Given the description of an element on the screen output the (x, y) to click on. 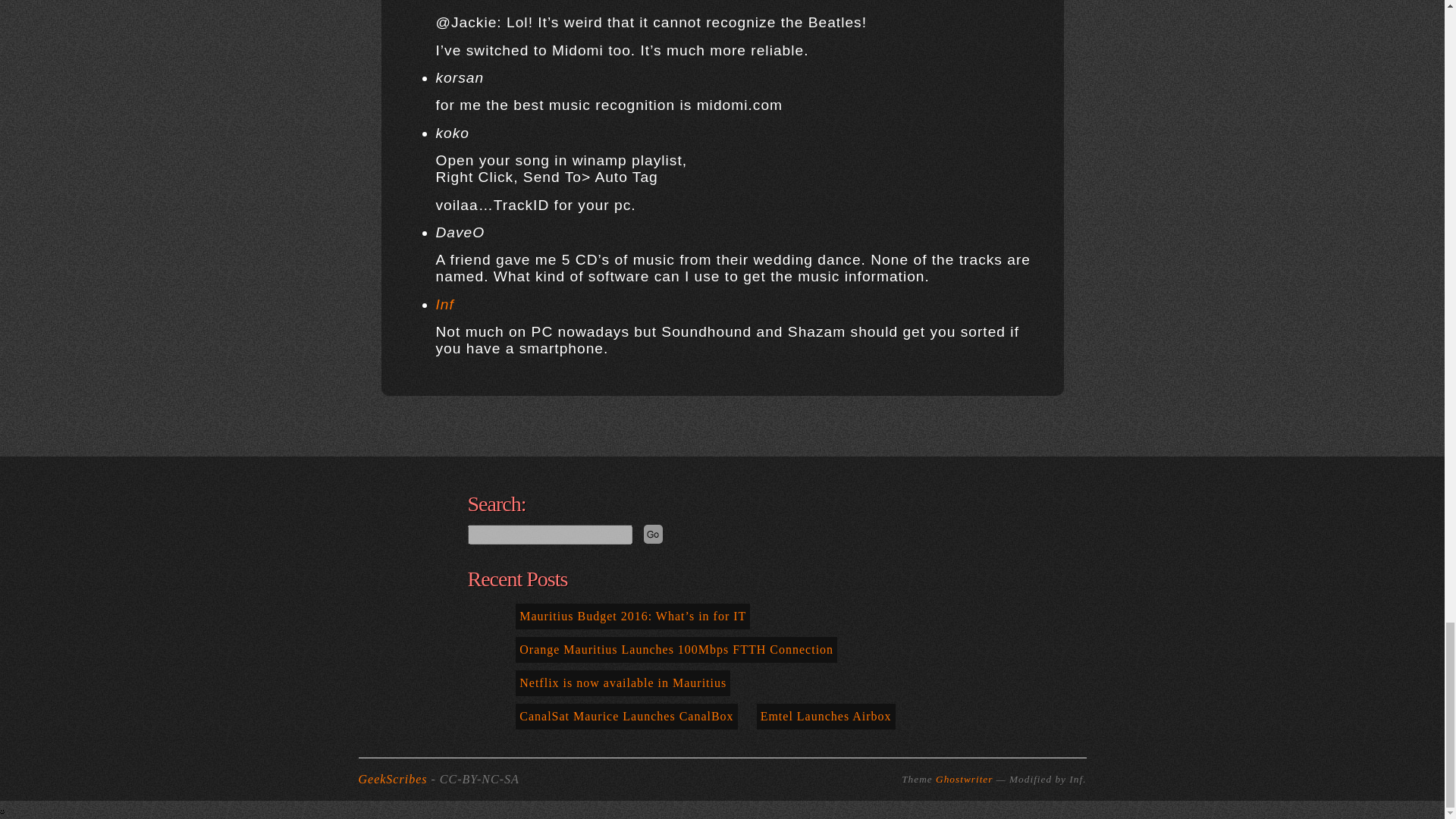
GeekScribes (394, 779)
Inf (443, 304)
Orange Mauritius Launches 100Mbps FTTH Connection (675, 649)
InF (446, 1)
